Given the description of an element on the screen output the (x, y) to click on. 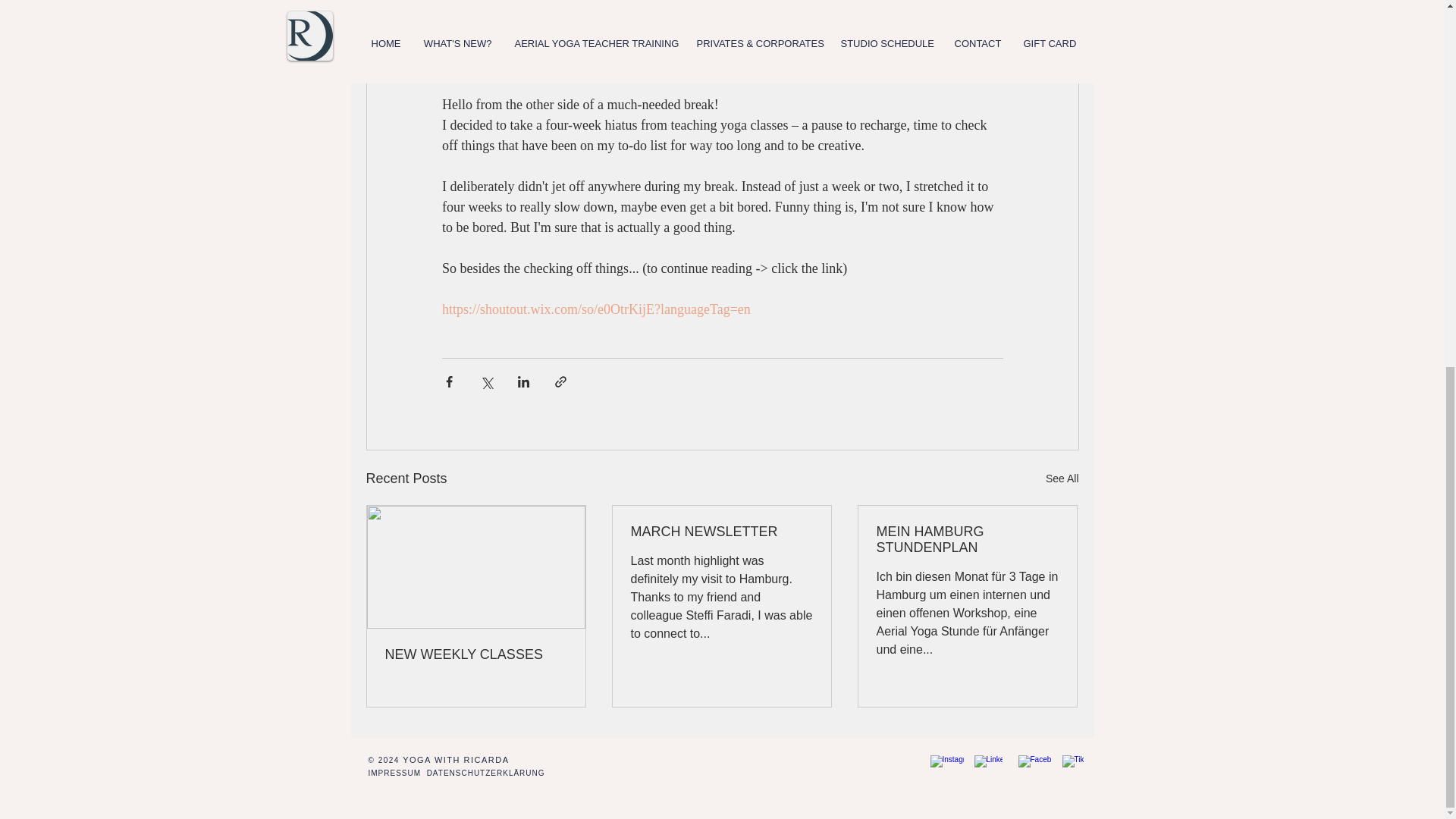
See All (1061, 478)
IMPRESSUM   (397, 773)
NEW WEEKLY CLASSES (476, 654)
MARCH NEWSLETTER (721, 531)
MEIN HAMBURG STUNDENPLAN (967, 540)
